Given the description of an element on the screen output the (x, y) to click on. 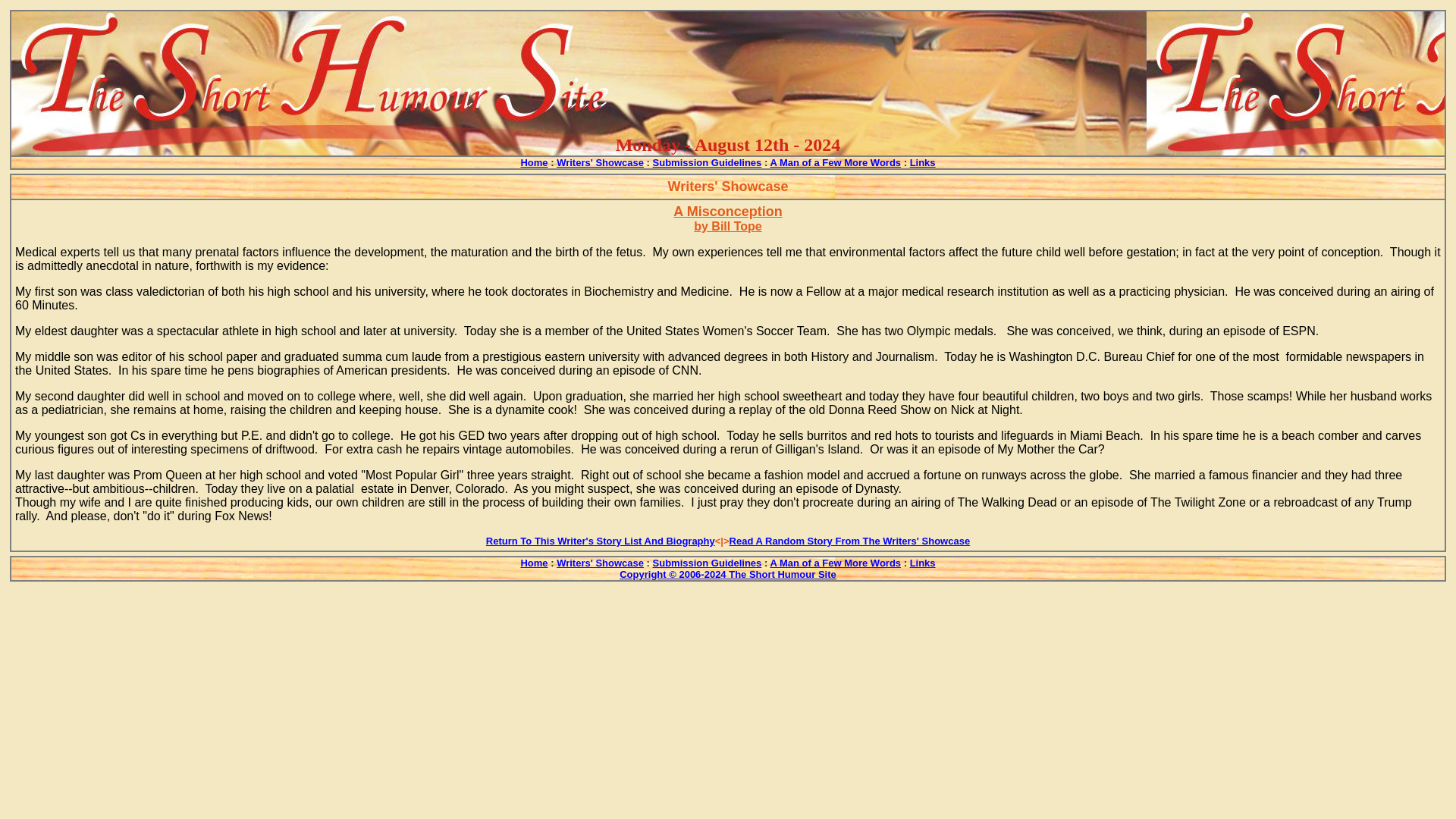
A Man of a Few More Words (835, 161)
Home (533, 161)
Links (923, 161)
A Man of a Few More Words (835, 562)
Submission Guidelines (706, 161)
Home (533, 562)
Read A Random Story From The Writers' Showcase (850, 540)
Submission Guidelines (706, 562)
Links (923, 562)
Return To This Writer's Story List And Biography (600, 540)
